Given the description of an element on the screen output the (x, y) to click on. 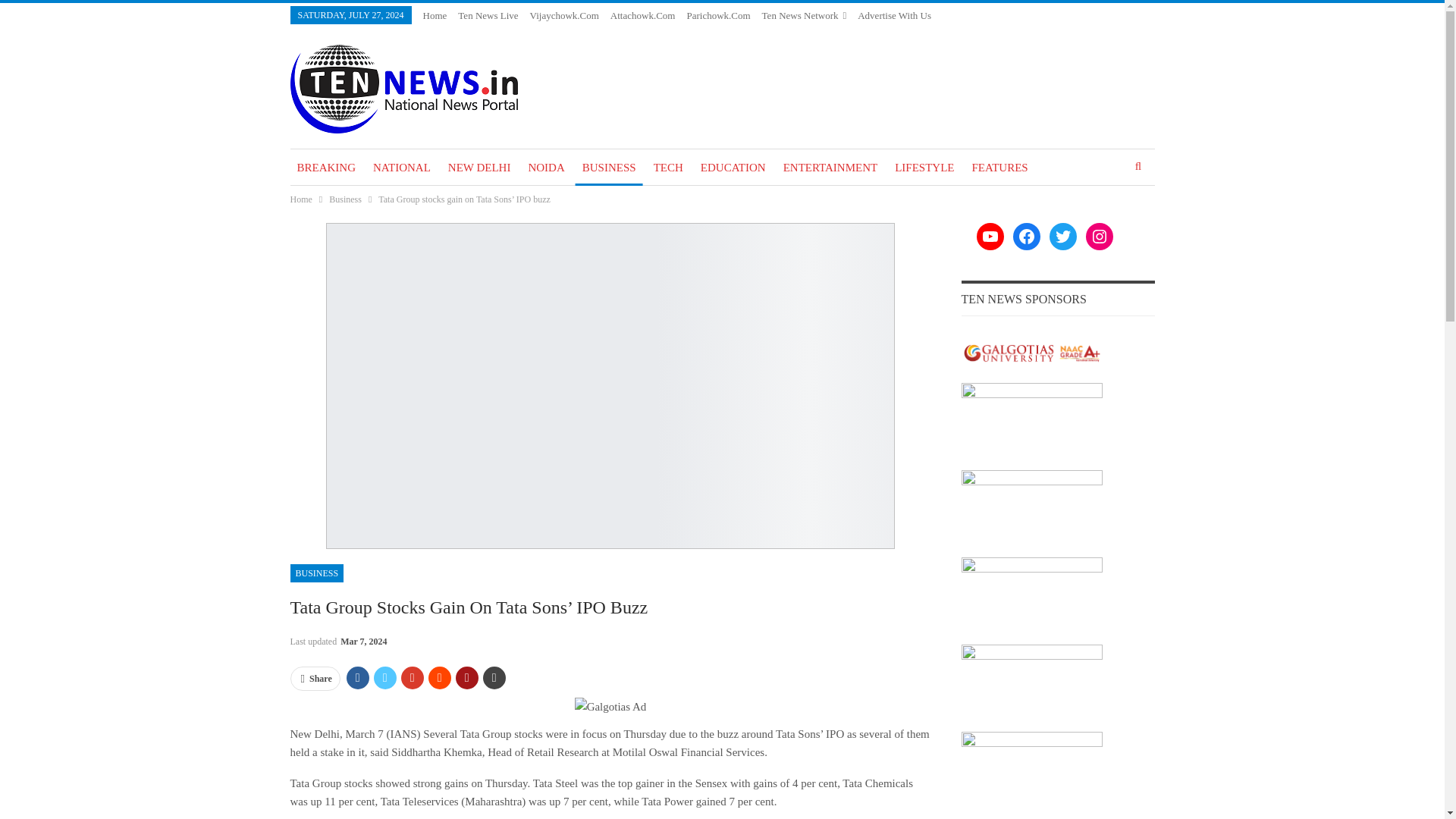
Home (300, 199)
Ten News Network (804, 15)
ENTERTAINMENT (830, 167)
LIFESTYLE (924, 167)
Careers (927, 34)
EDUCATION (733, 167)
Ten News Live (488, 15)
Advertise With Us (894, 15)
TECH (668, 167)
NEW DELHI (479, 167)
FEATURES (1000, 167)
Attachowk.Com (642, 15)
NATIONAL (402, 167)
NOIDA (545, 167)
Contact Us (879, 34)
